Given the description of an element on the screen output the (x, y) to click on. 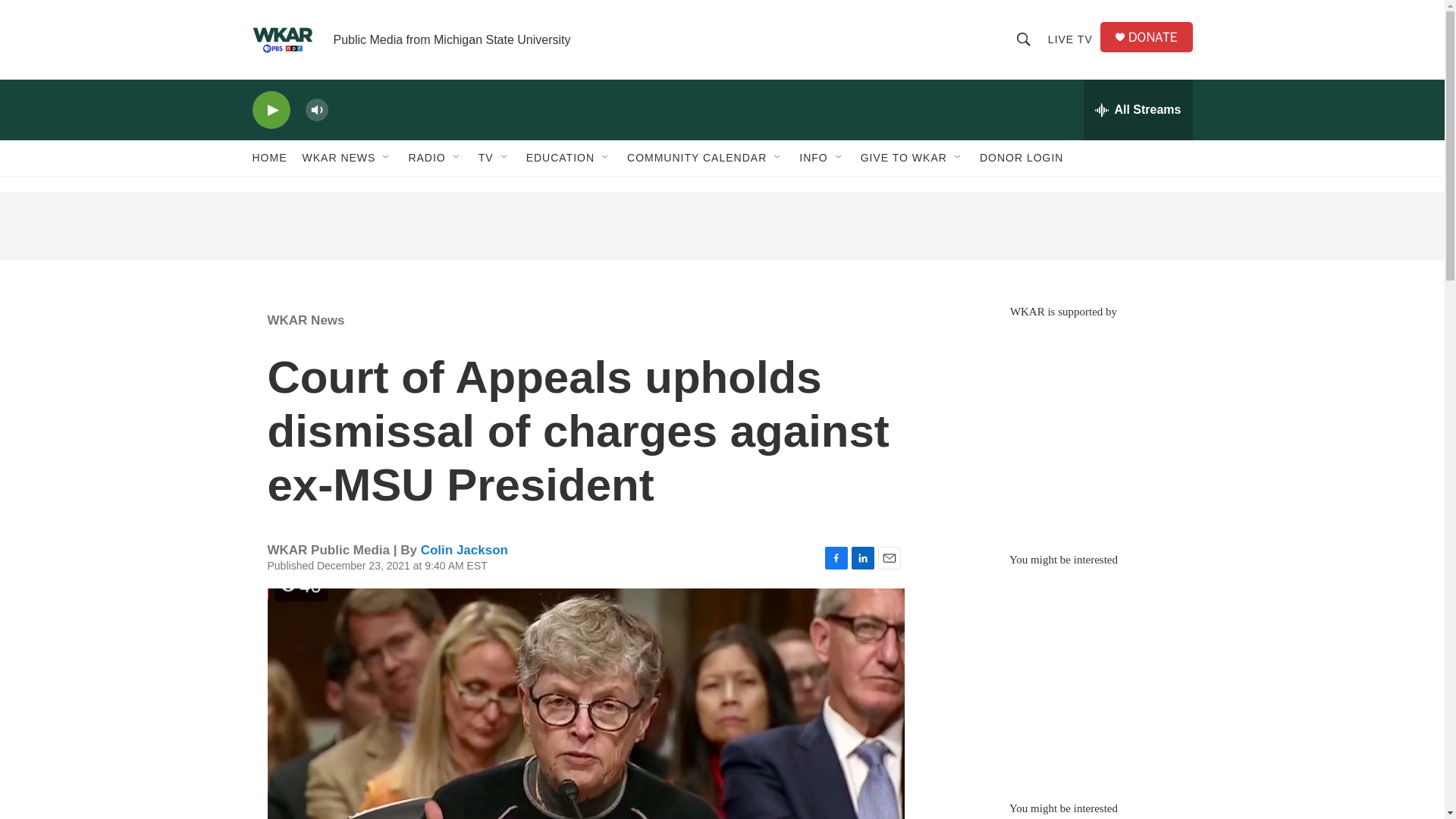
3rd party ad content (1062, 677)
3rd party ad content (1062, 428)
3rd party ad content (721, 225)
